Given the description of an element on the screen output the (x, y) to click on. 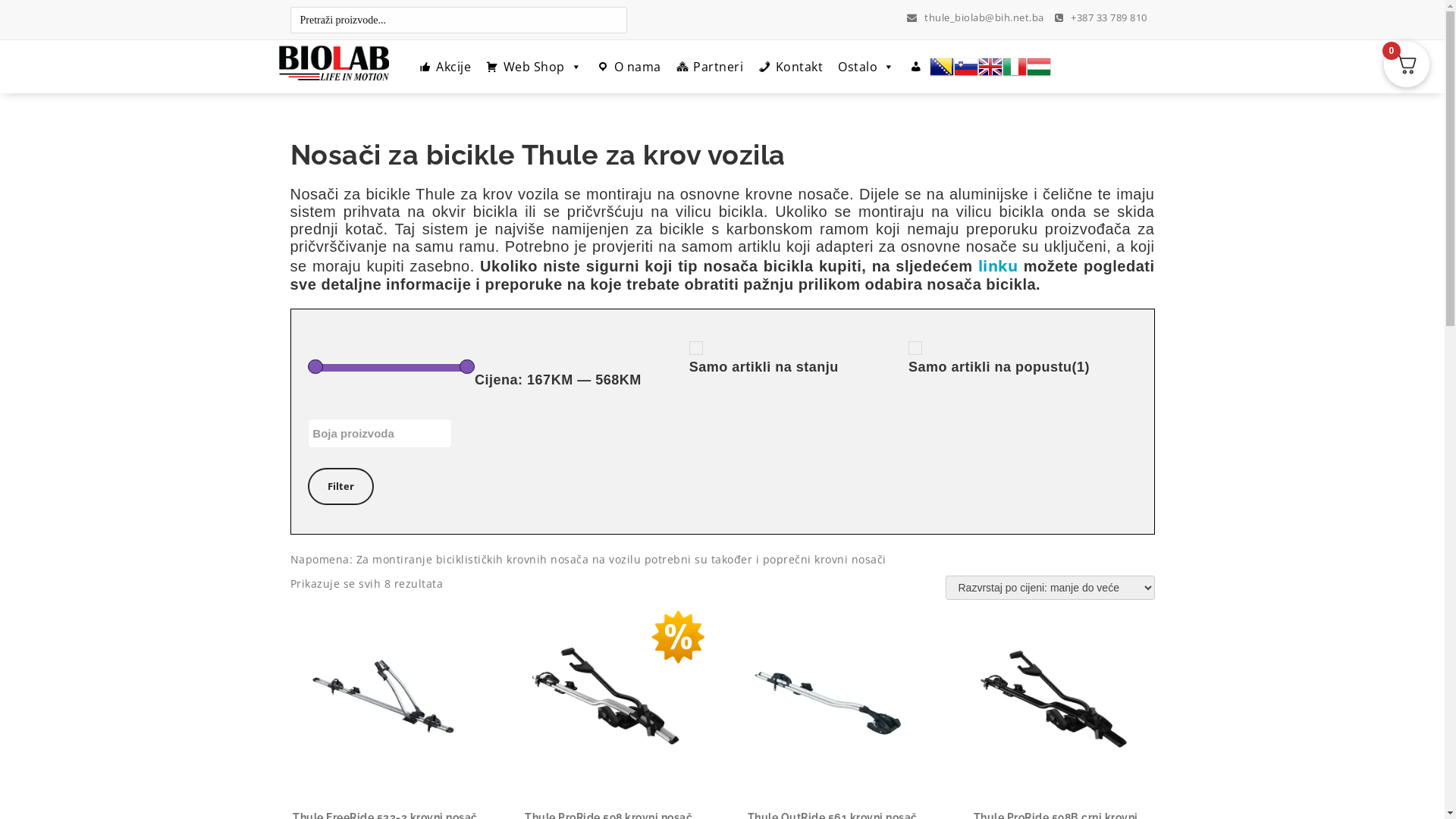
Slovenian Element type: hover (965, 66)
Bosnian Element type: hover (941, 66)
Ostalo Element type: text (866, 66)
O nama Element type: text (628, 66)
Italian Element type: hover (1014, 66)
thule_biolab@bih.net.ba Element type: text (975, 17)
+387 33 789 810 Element type: text (1100, 17)
Web Shop Element type: text (533, 66)
linku Element type: text (998, 265)
English Element type: hover (990, 66)
Partneri Element type: text (709, 66)
Hungarian Element type: hover (1038, 66)
Filter Element type: text (340, 486)
Kontakt Element type: text (790, 66)
Akcije Element type: text (444, 66)
